Given the description of an element on the screen output the (x, y) to click on. 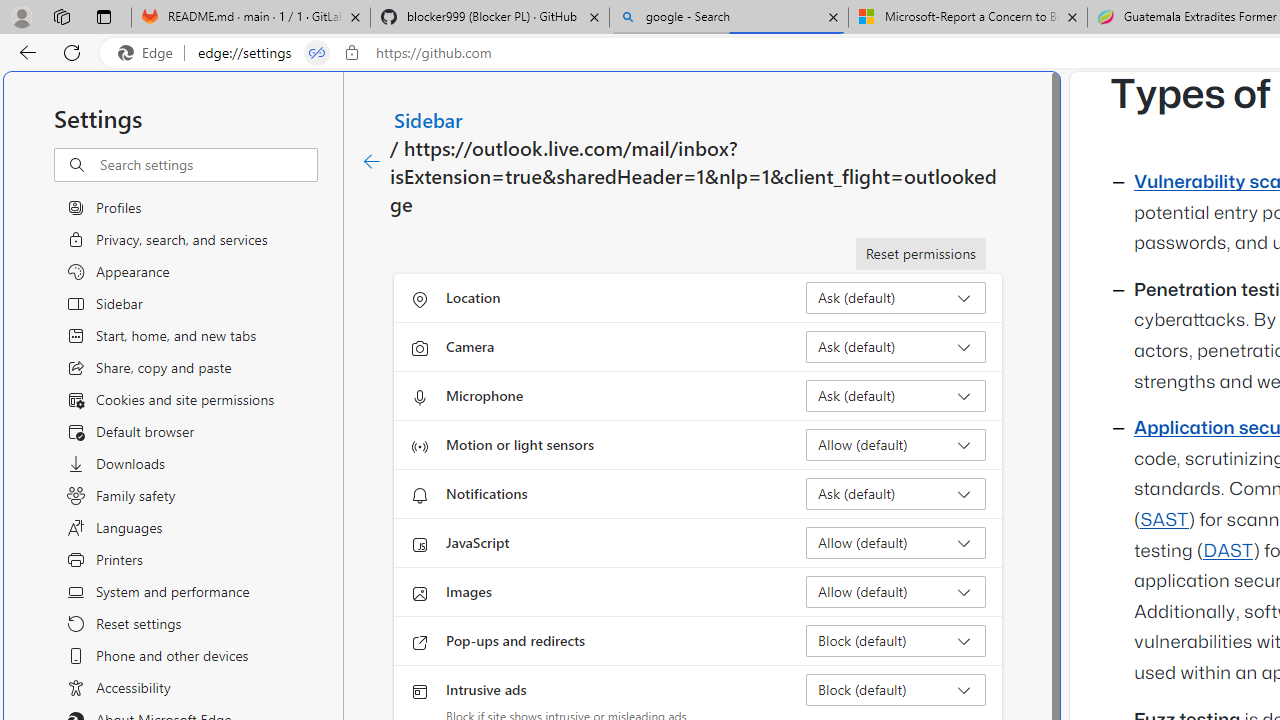
SAST (1164, 520)
Sidebar (429, 119)
Notifications Ask (default) (895, 493)
Go back to Sidebar page. (372, 162)
Images Allow (default) (895, 591)
JavaScript Allow (default) (895, 542)
Tabs in split screen (317, 53)
Location Ask (default) (895, 297)
Reset permissions (920, 254)
Camera Ask (default) (895, 346)
Edge (150, 53)
